Given the description of an element on the screen output the (x, y) to click on. 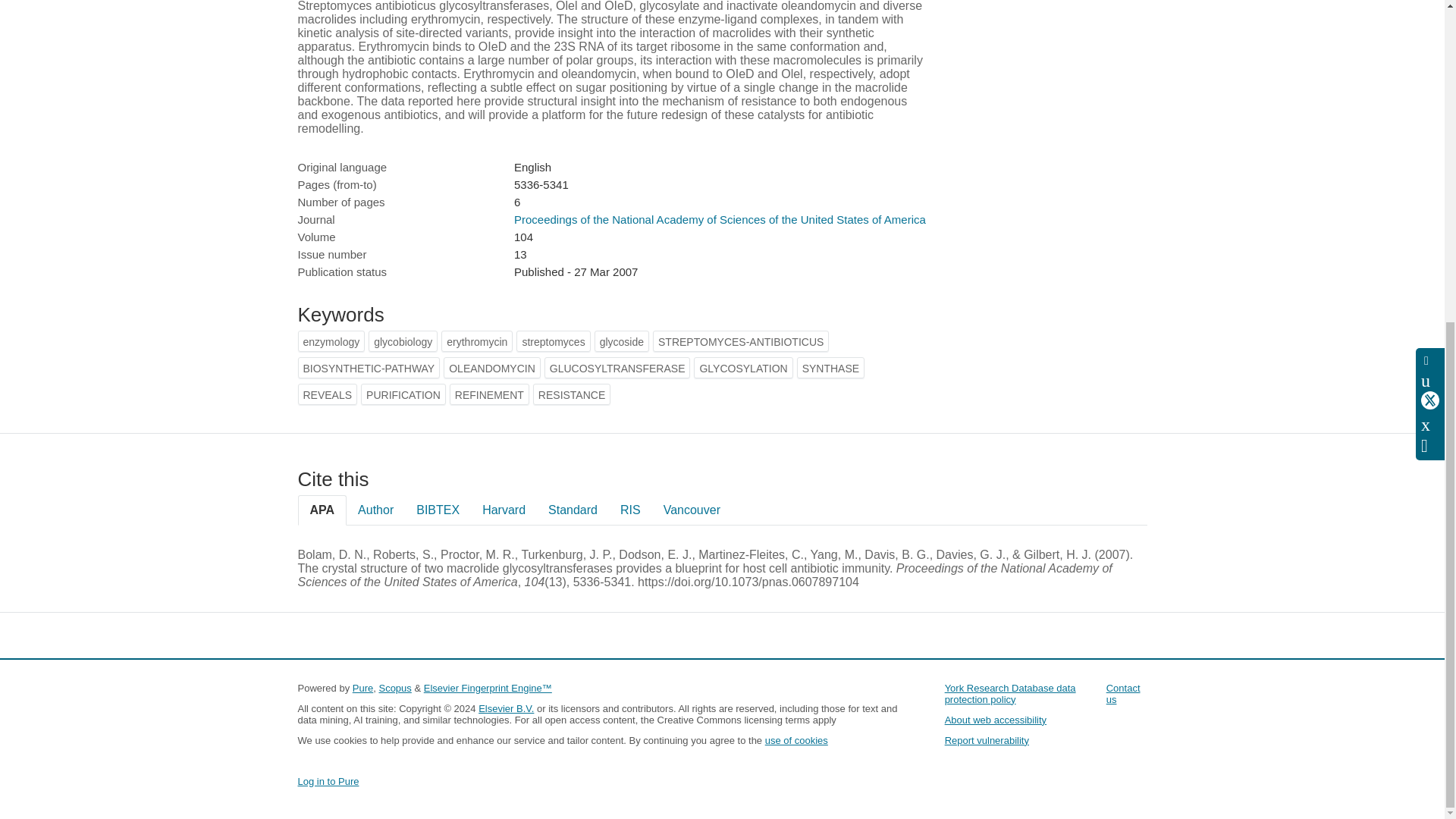
Report vulnerability (986, 740)
York Research Database data protection policy (1009, 693)
About web accessibility (995, 719)
Elsevier B.V. (506, 708)
Contact us (1123, 693)
use of cookies (796, 740)
Log in to Pure (327, 781)
Scopus (394, 687)
Pure (362, 687)
